Given the description of an element on the screen output the (x, y) to click on. 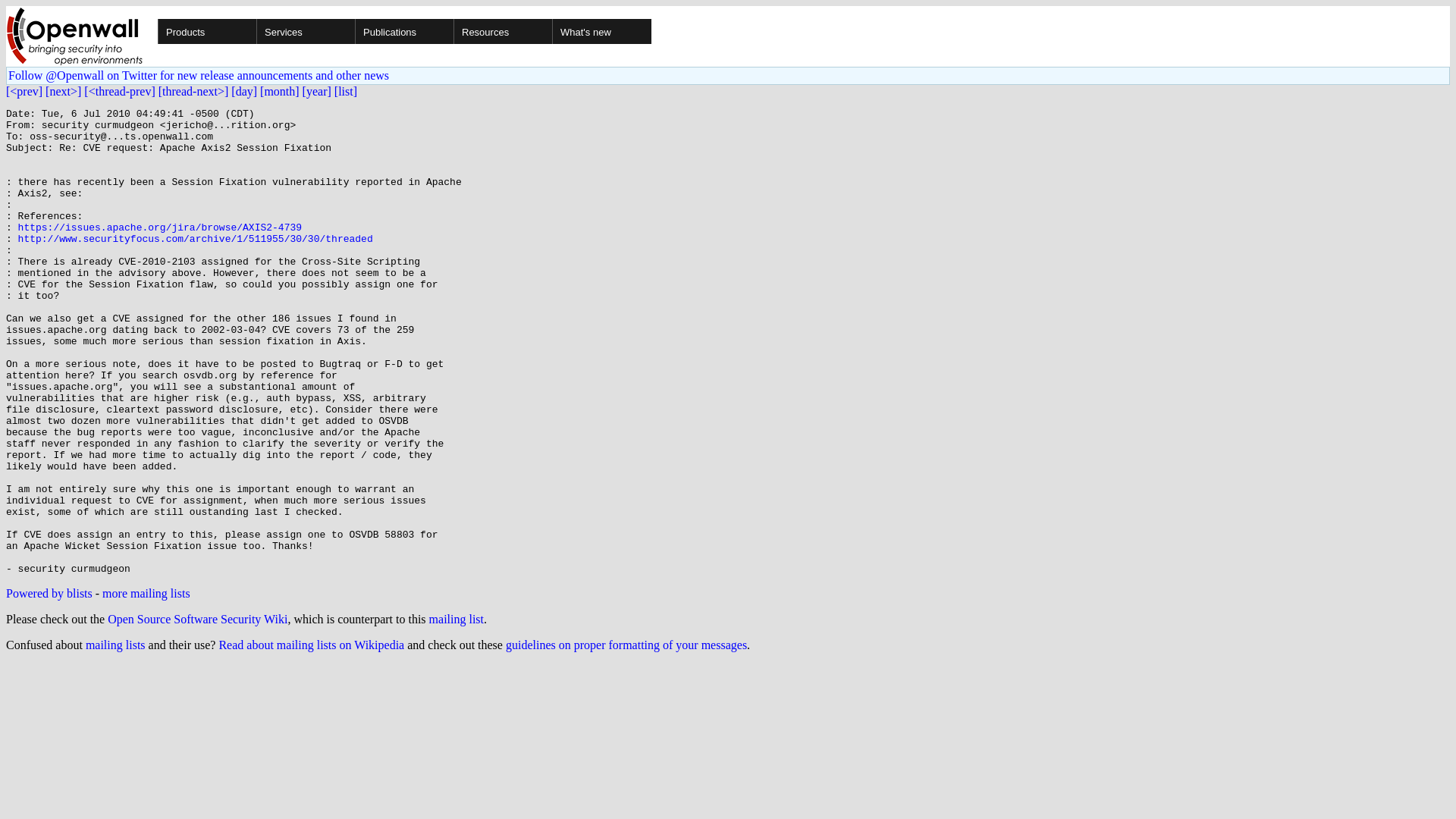
Services (352, 31)
Publications (451, 31)
What's new (600, 31)
Resources (549, 31)
Products (254, 31)
